Given the description of an element on the screen output the (x, y) to click on. 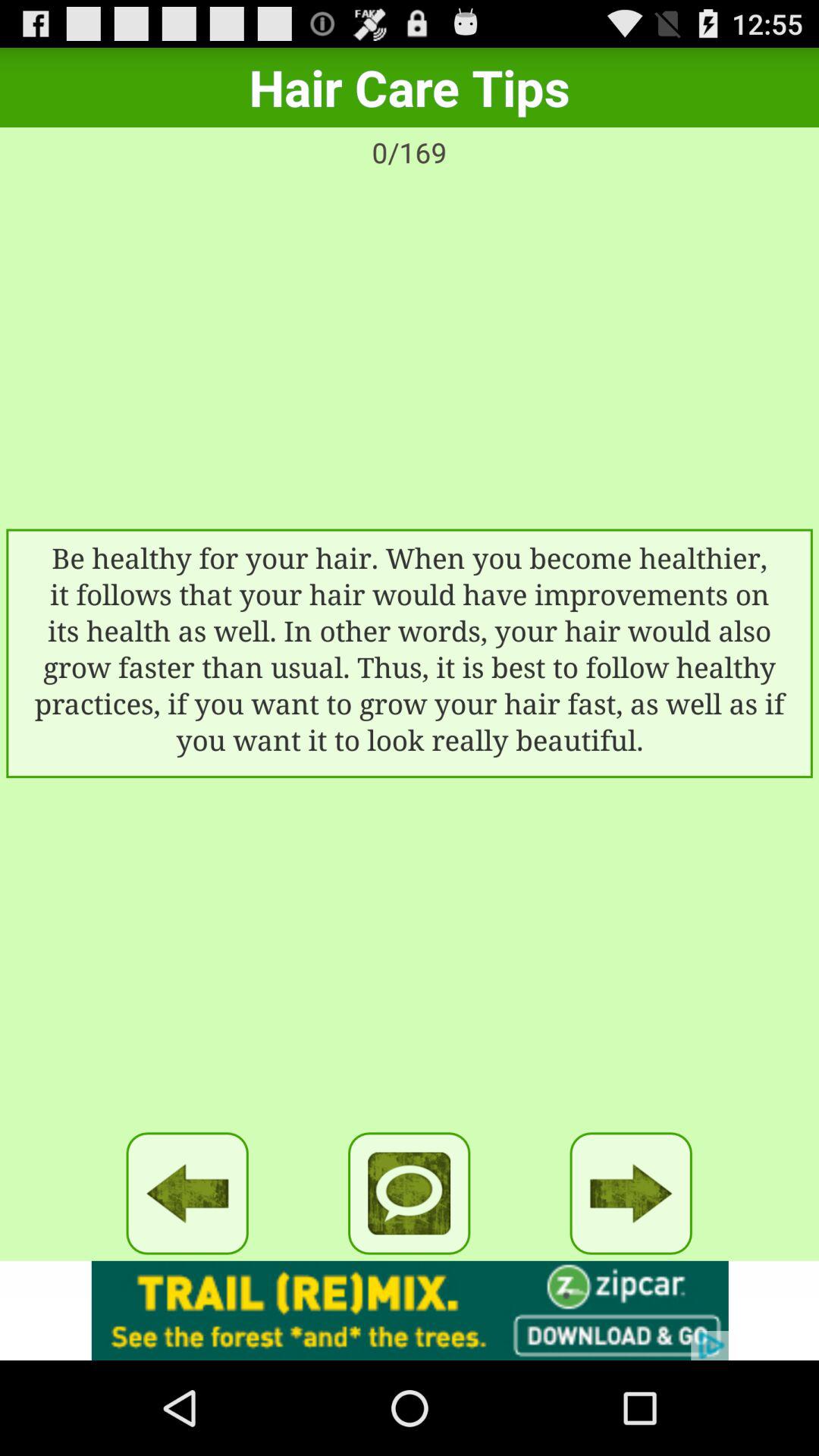
go forward (630, 1193)
